Given the description of an element on the screen output the (x, y) to click on. 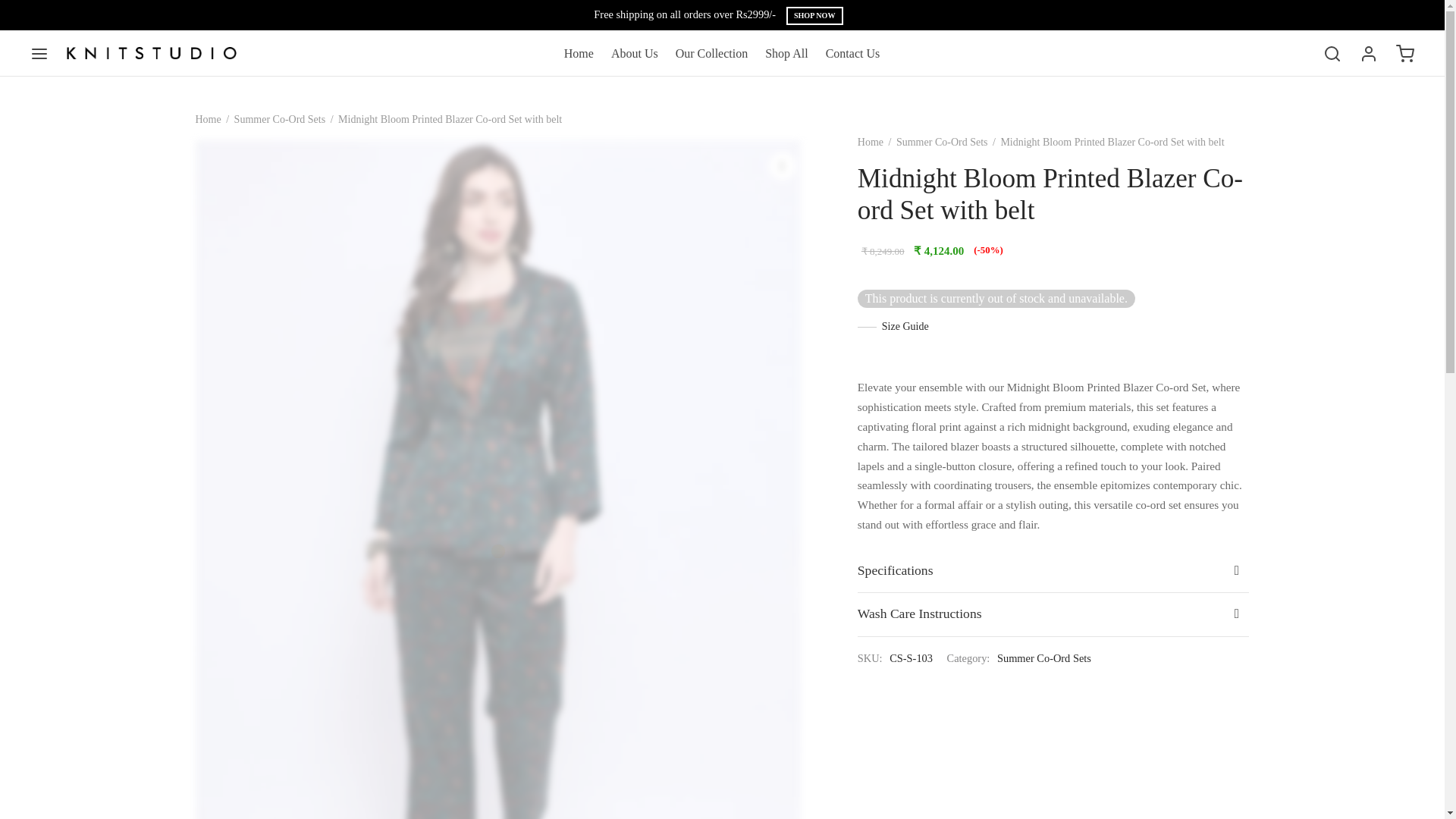
Summer Co-Ord Sets (280, 119)
Summer Co-Ord Sets (1043, 658)
Our Collection (711, 53)
Home (579, 53)
Home (208, 119)
Wash Care Instructions (1053, 613)
Size Guide (892, 326)
Summer Co-Ord Sets (942, 142)
Specifications (1053, 570)
